Given the description of an element on the screen output the (x, y) to click on. 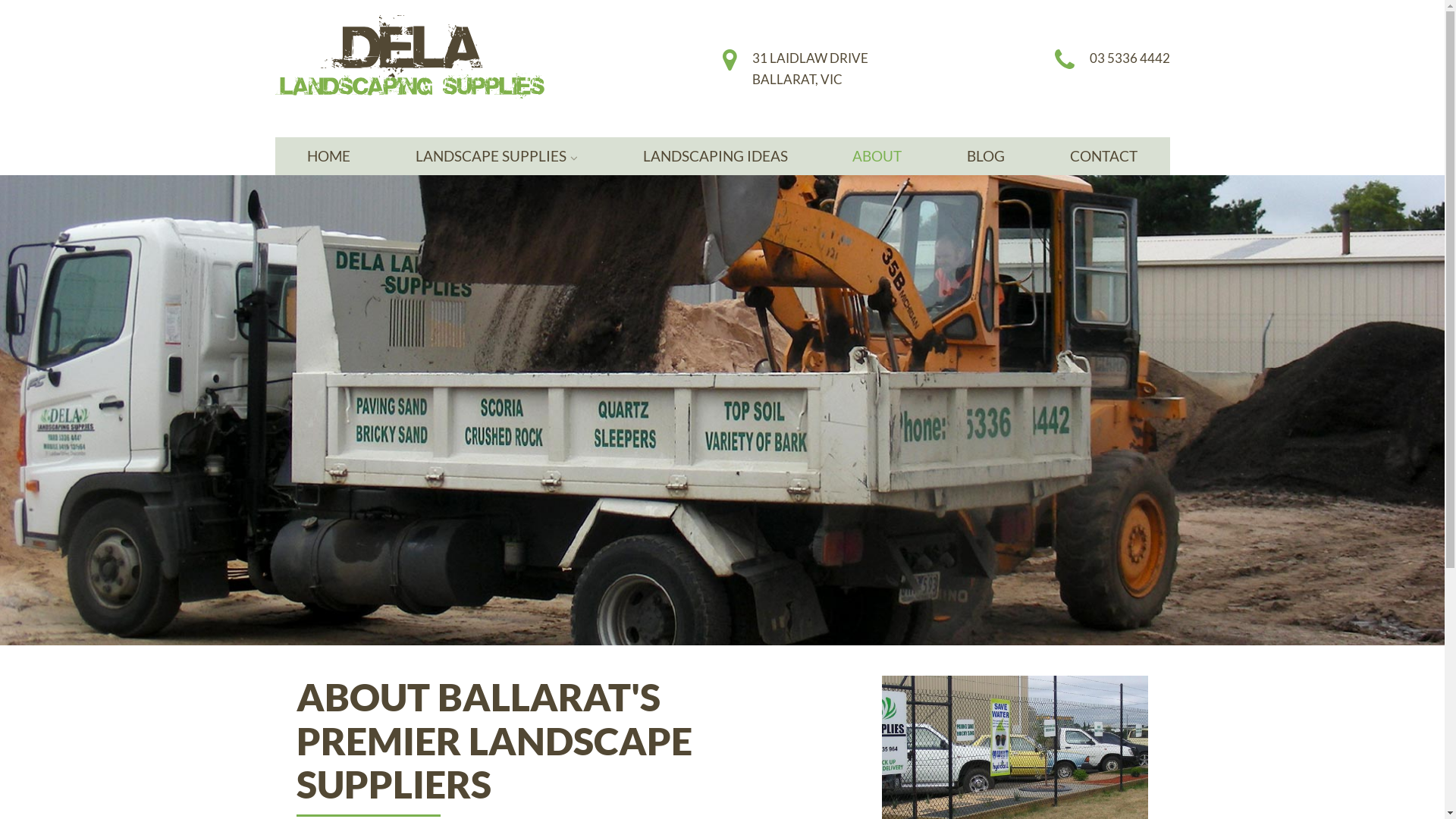
LANDSCAPING IDEAS Element type: text (715, 155)
HOME Element type: text (328, 155)
LANDSCAPE SUPPLIES Element type: text (496, 155)
BLOG Element type: text (985, 155)
CONTACT Element type: text (1103, 155)
ABOUT Element type: text (876, 155)
